Given the description of an element on the screen output the (x, y) to click on. 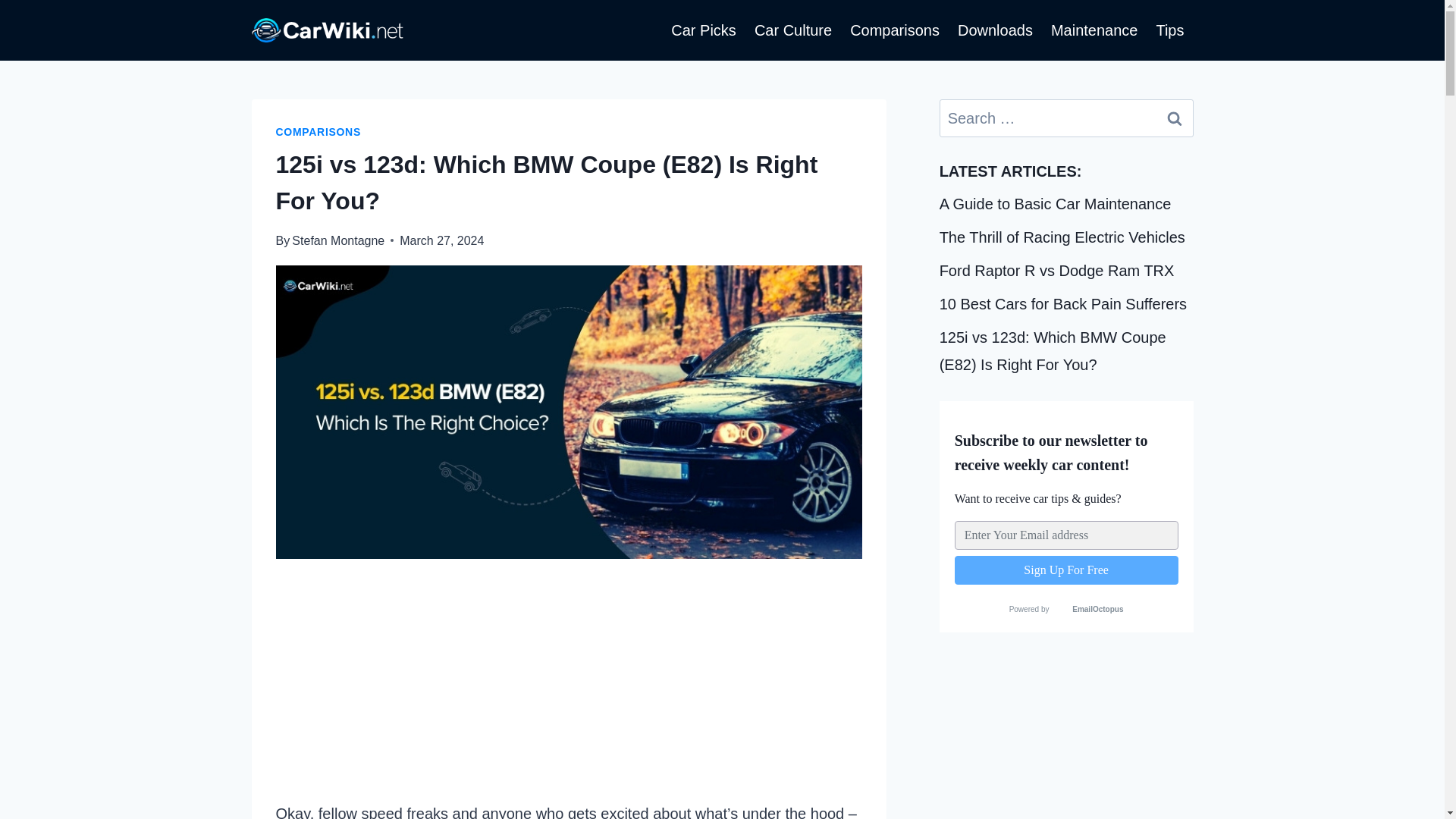
Stefan Montagne (338, 240)
Comparisons (895, 30)
Downloads (995, 30)
Car Culture (793, 30)
COMPARISONS (318, 132)
Sign Up For Free (1066, 570)
Car Picks (703, 30)
Search (1174, 118)
Tips (1169, 30)
